Given the description of an element on the screen output the (x, y) to click on. 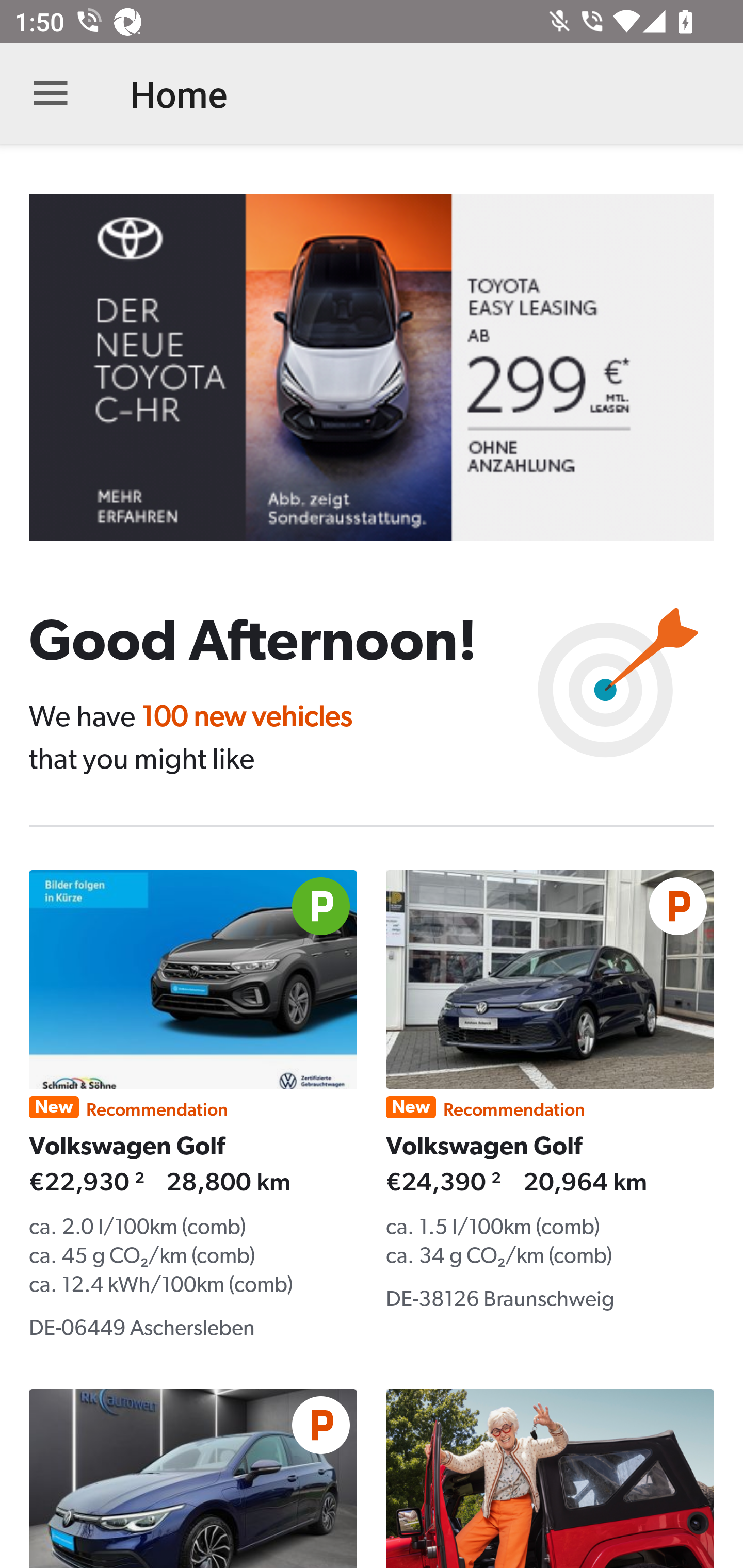
Open navigation bar (50, 93)
B31340770 (385, 367)
